Given the description of an element on the screen output the (x, y) to click on. 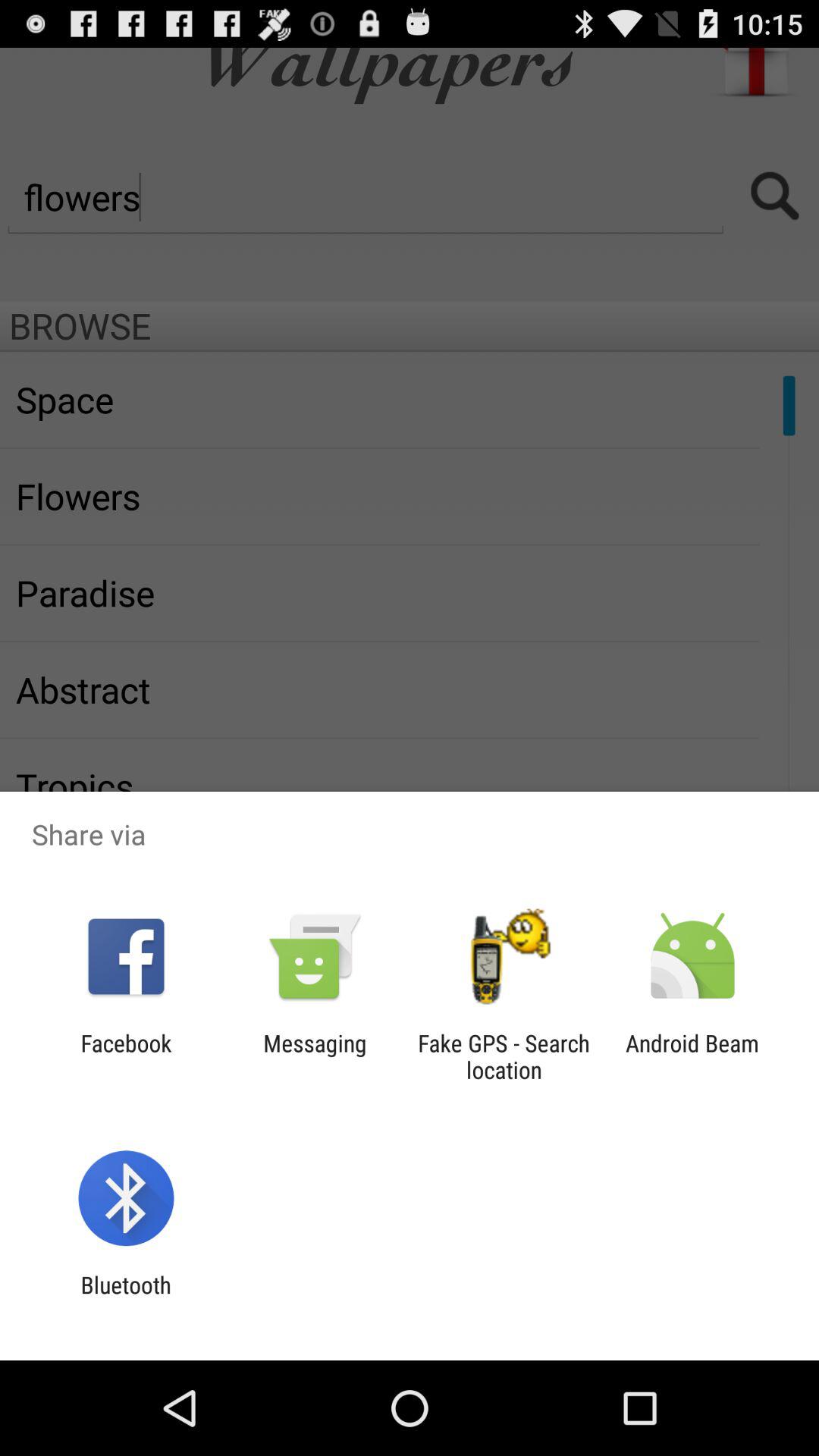
scroll to fake gps search item (503, 1056)
